Given the description of an element on the screen output the (x, y) to click on. 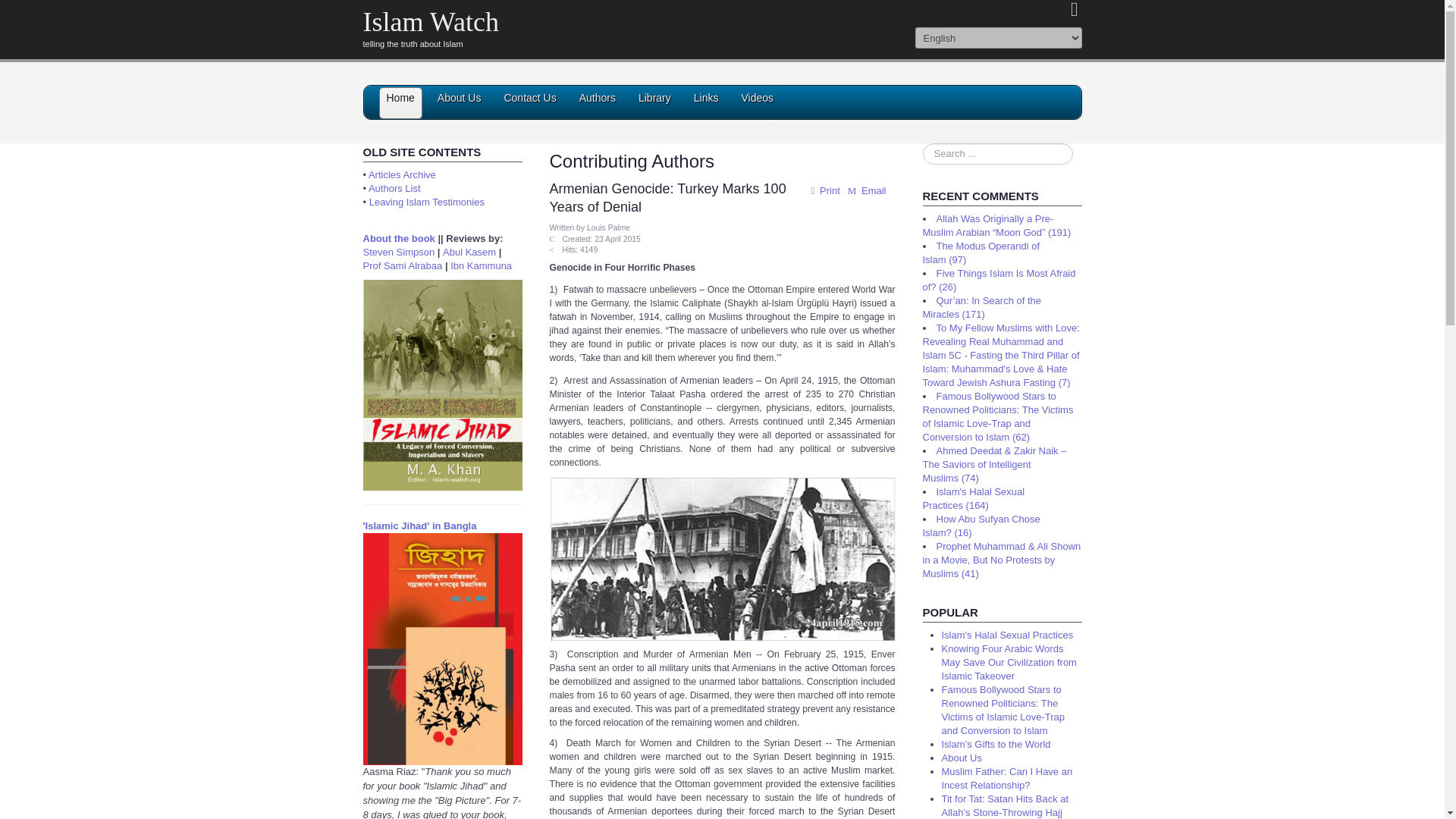
Islam Watch (429, 21)
Links (706, 103)
Home (400, 103)
Steven Simpson (397, 251)
Prof Sami Alrabaa (402, 265)
About Us (459, 103)
Ibn Kammuna (480, 265)
Articles Archive (401, 174)
Abul Kasem (469, 251)
Contact Us (529, 103)
Email this link to a friend (865, 190)
Leaving Islam Testimonies (426, 202)
Videos (757, 103)
Library (655, 103)
'Islamic Jihad' in Bangla (419, 525)
